Given the description of an element on the screen output the (x, y) to click on. 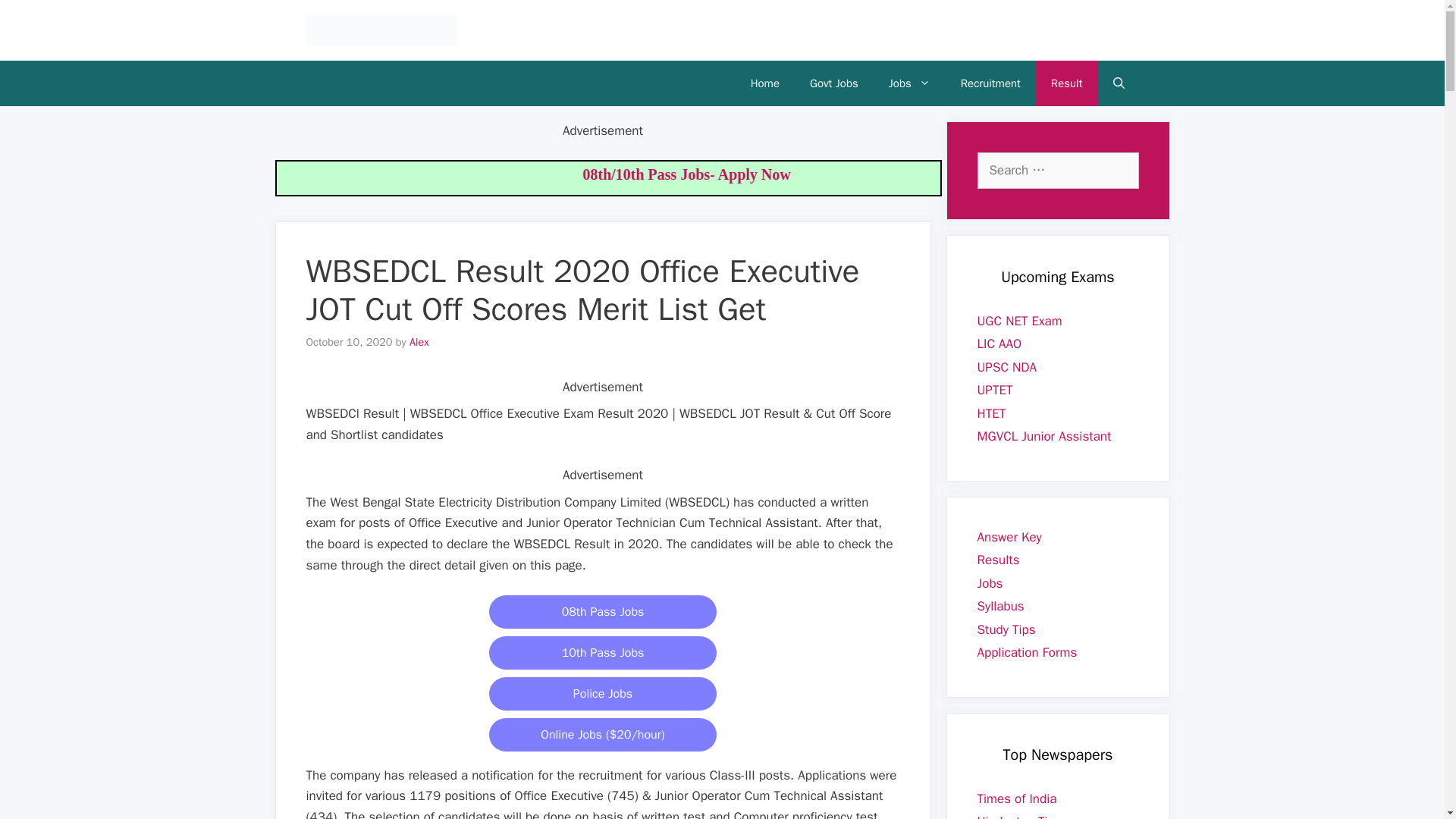
Govt Jobs (833, 83)
Home (764, 83)
View all posts by Alex (419, 341)
Police Jobs (602, 693)
Jobs (908, 83)
Result (1066, 83)
Alex (419, 341)
10th Pass Jobs (602, 652)
Search for: (1057, 170)
10th Pass Jobs (602, 652)
Recruitment (989, 83)
08th Pass Jobs (602, 611)
08th Pass Jobs (602, 611)
Police Jobs (602, 693)
